Given the description of an element on the screen output the (x, y) to click on. 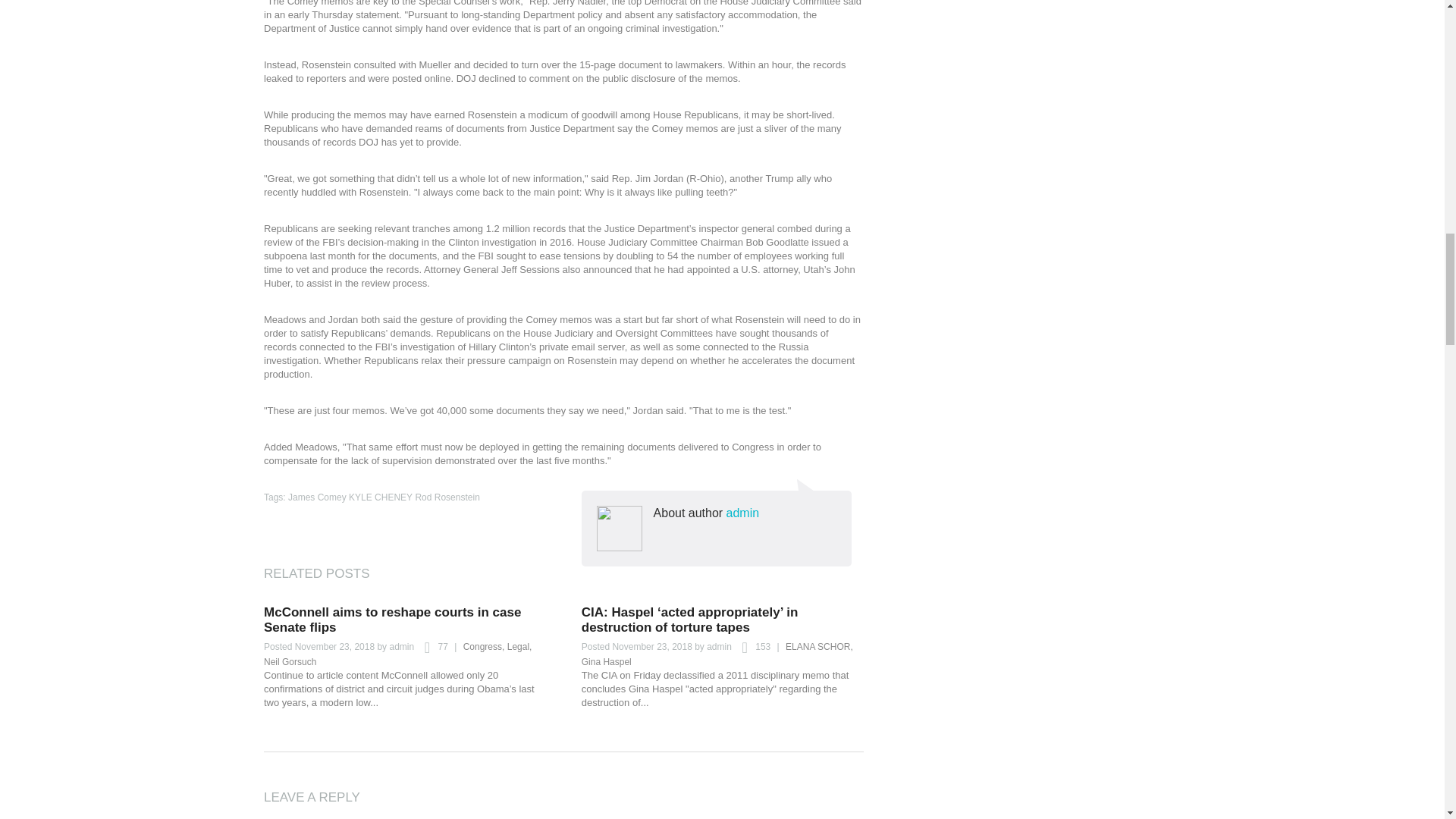
admin (743, 512)
admin (719, 646)
Views - 77 (431, 647)
Legal, (519, 646)
McConnell aims to reshape courts in case Senate flips (392, 619)
November 23, 2018 (334, 646)
153 (751, 647)
Views - 153 (751, 647)
KYLE CHENEY (380, 497)
James Comey (317, 497)
